Given the description of an element on the screen output the (x, y) to click on. 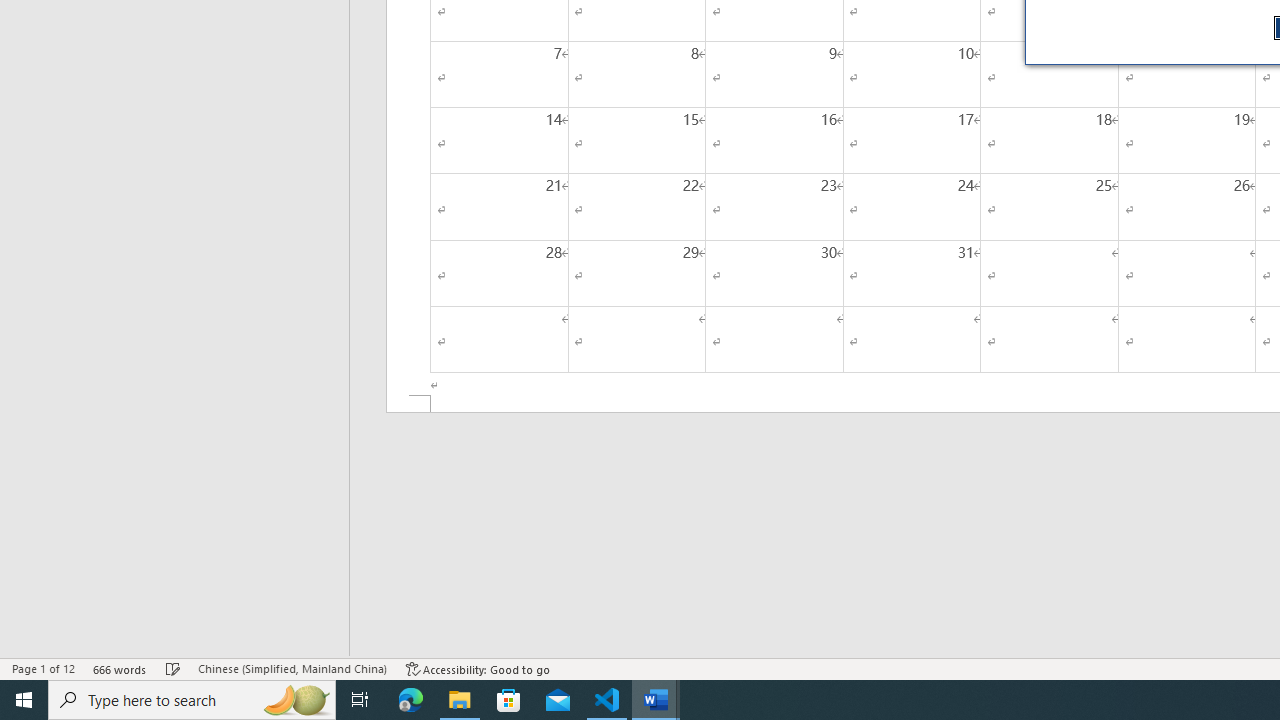
Start (24, 699)
Task View (359, 699)
Spelling and Grammar Check Checking (173, 668)
Language Chinese (Simplified, Mainland China) (292, 668)
Microsoft Store (509, 699)
Page Number Page 1 of 12 (43, 668)
Search highlights icon opens search home window (295, 699)
Visual Studio Code - 1 running window (607, 699)
File Explorer - 1 running window (460, 699)
Word Count 666 words (119, 668)
Type here to search (191, 699)
Accessibility Checker Accessibility: Good to go (478, 668)
Word - 2 running windows (656, 699)
Microsoft Edge (411, 699)
